Given the description of an element on the screen output the (x, y) to click on. 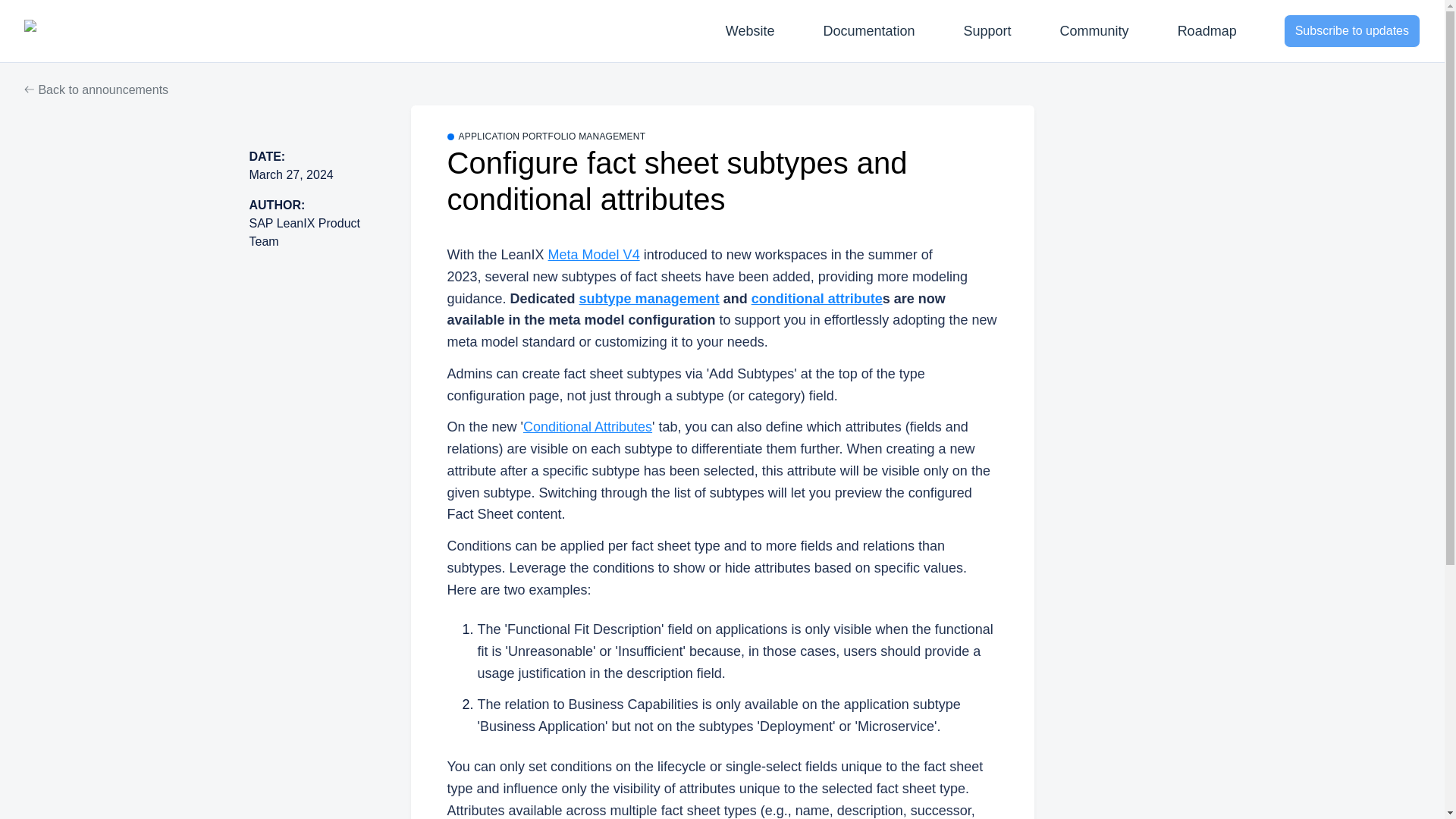
Meta Model V4 (594, 254)
Subscribe to updates (1352, 30)
Conditional Attributes (587, 426)
arrow-left (29, 89)
arrow-left Back to announcements (96, 90)
conditional attribute (816, 298)
Community (1094, 30)
Documentation (868, 30)
Support (987, 30)
Roadmap (1207, 30)
March 27, 2024 at 8:13pm CST (290, 174)
subtype management (649, 298)
Website (750, 30)
